Given the description of an element on the screen output the (x, y) to click on. 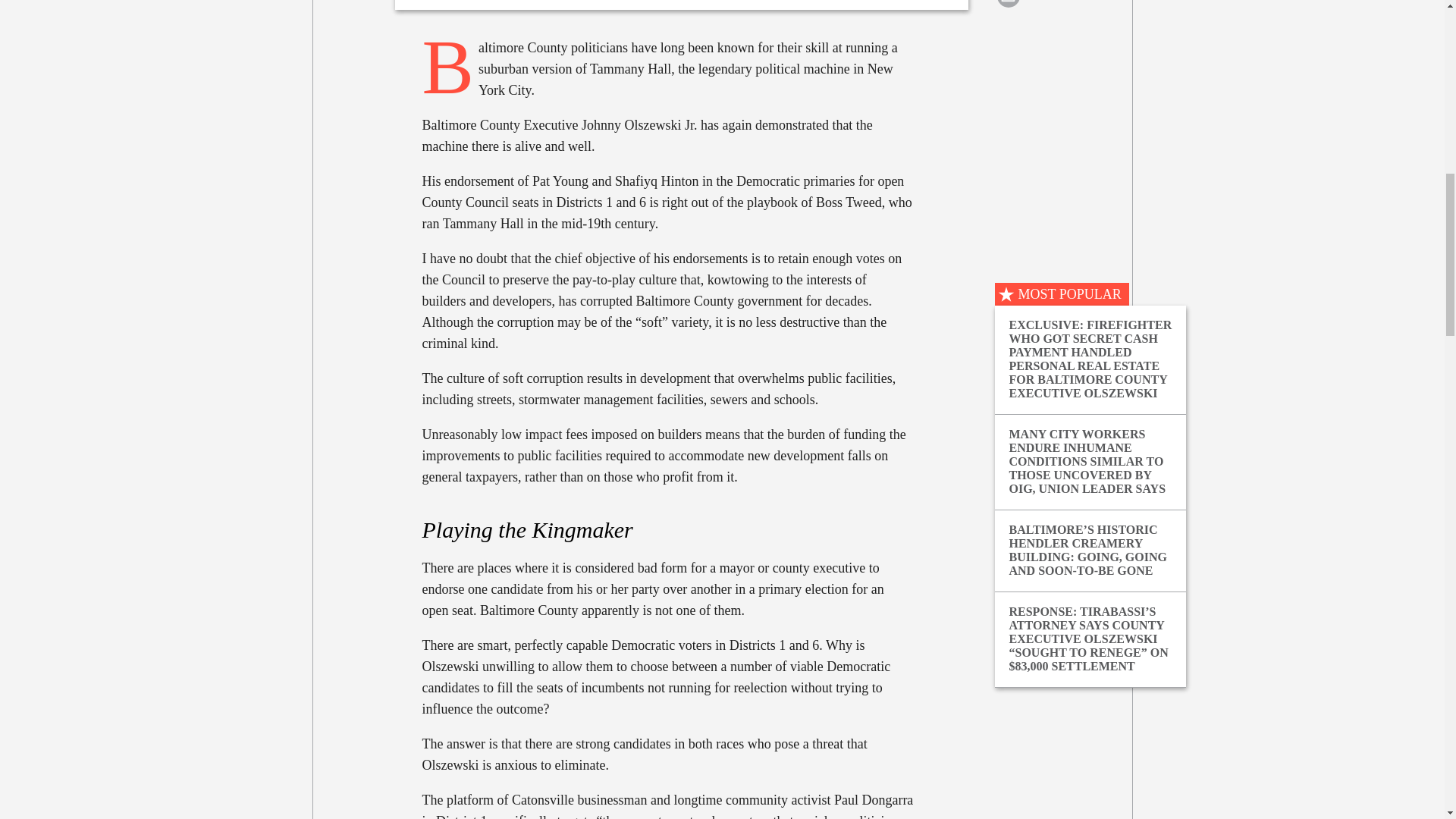
Print this article (1008, 4)
